Given the description of an element on the screen output the (x, y) to click on. 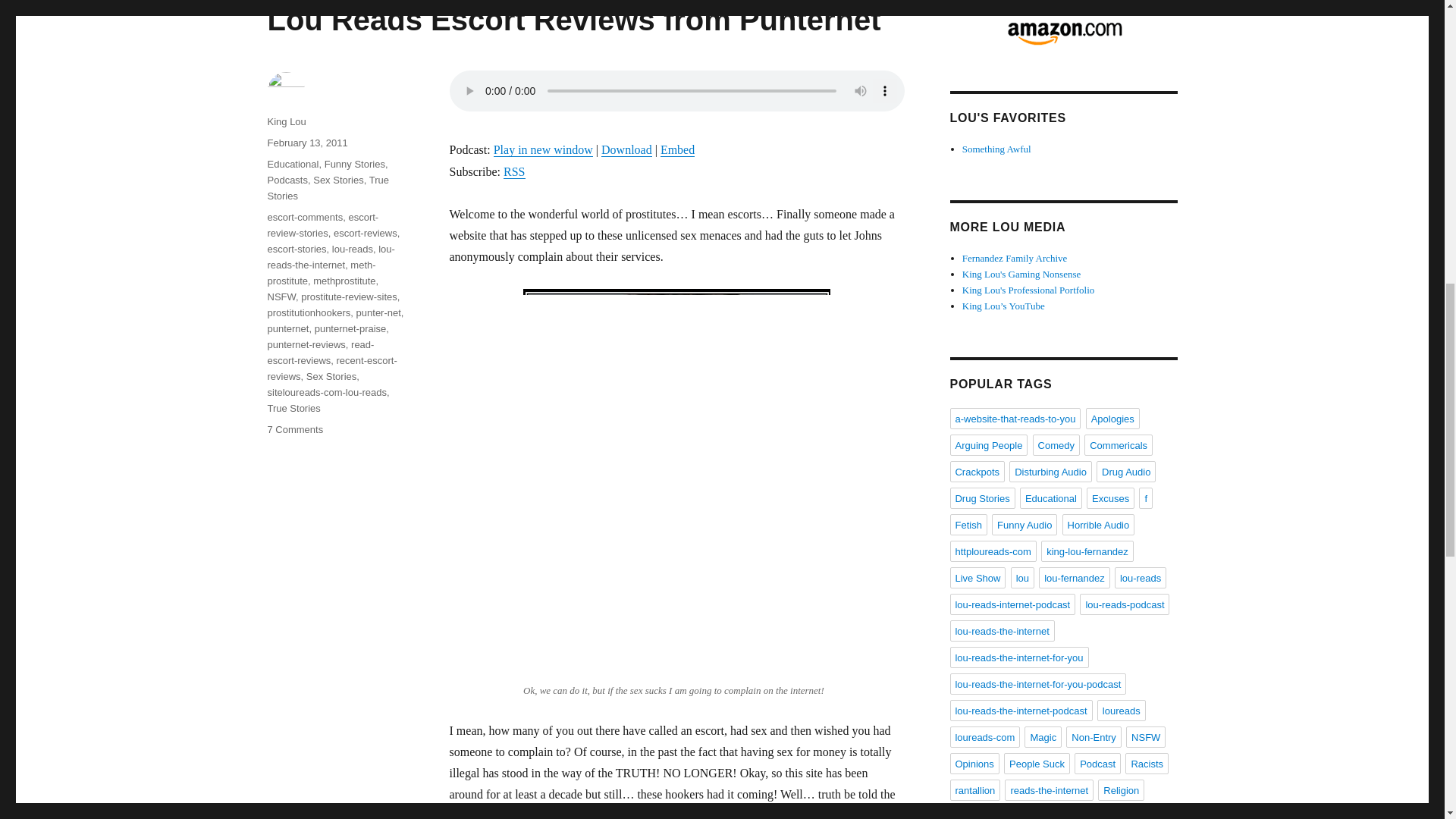
prostitute-review-sites (348, 296)
NSFW (280, 296)
meth-prostitute (320, 272)
Sex Stories (330, 376)
escort-reviews (365, 233)
RSS (513, 171)
Sex Stories (337, 179)
lou-reads-the-internet (330, 257)
Play in new window (542, 149)
escort-review-stories (322, 225)
King Lou (285, 121)
Subscribe via RSS (513, 171)
Educational (292, 163)
escort-comments (304, 216)
prostitutionhookers (308, 312)
